Given the description of an element on the screen output the (x, y) to click on. 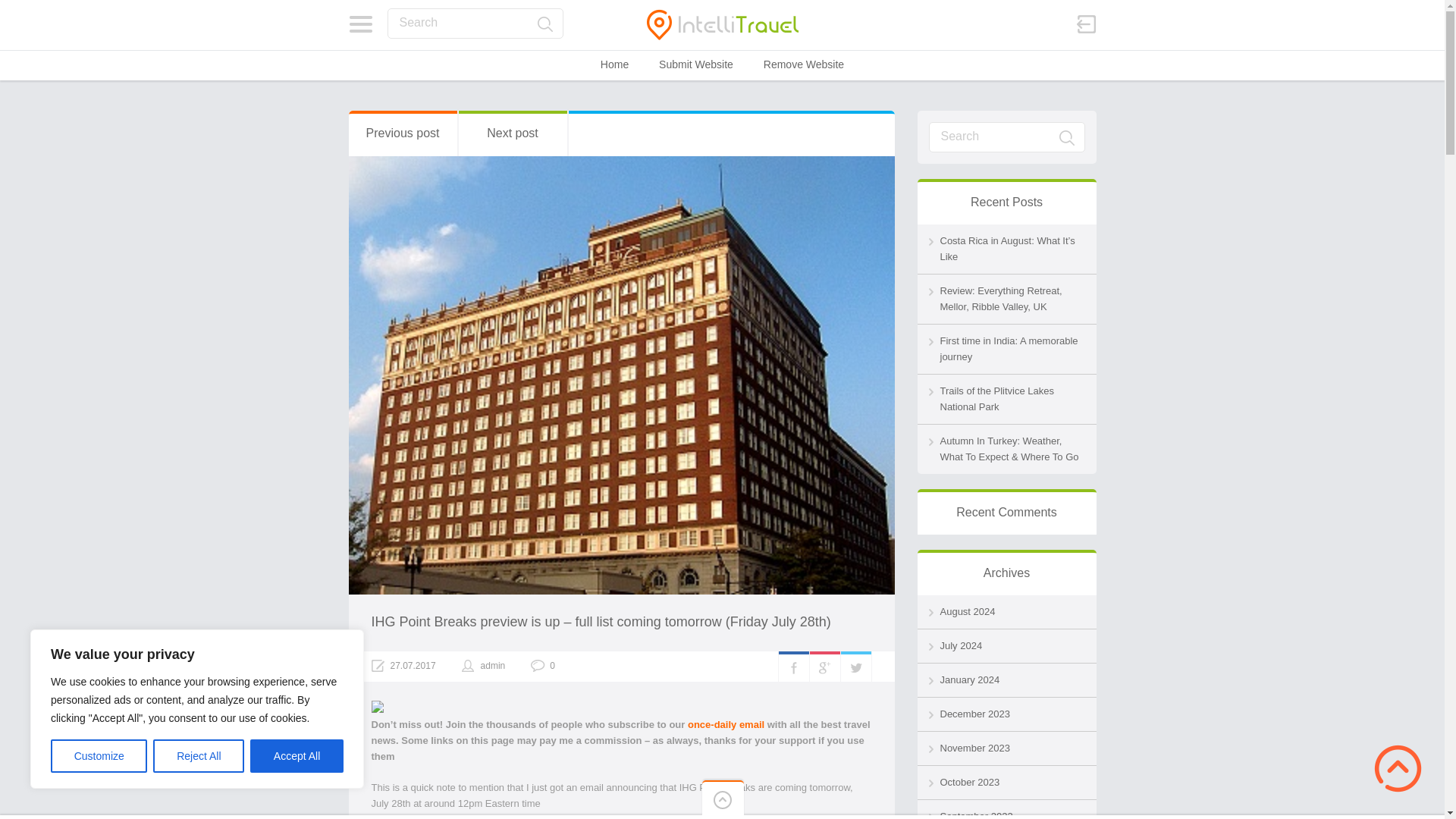
Customize (98, 756)
Search (544, 23)
Sign in (1086, 24)
Categories (360, 23)
Posts by admin (492, 665)
Categories (360, 23)
Total comments (542, 665)
Reject All (198, 756)
Search (474, 23)
Accept All (296, 756)
